Given the description of an element on the screen output the (x, y) to click on. 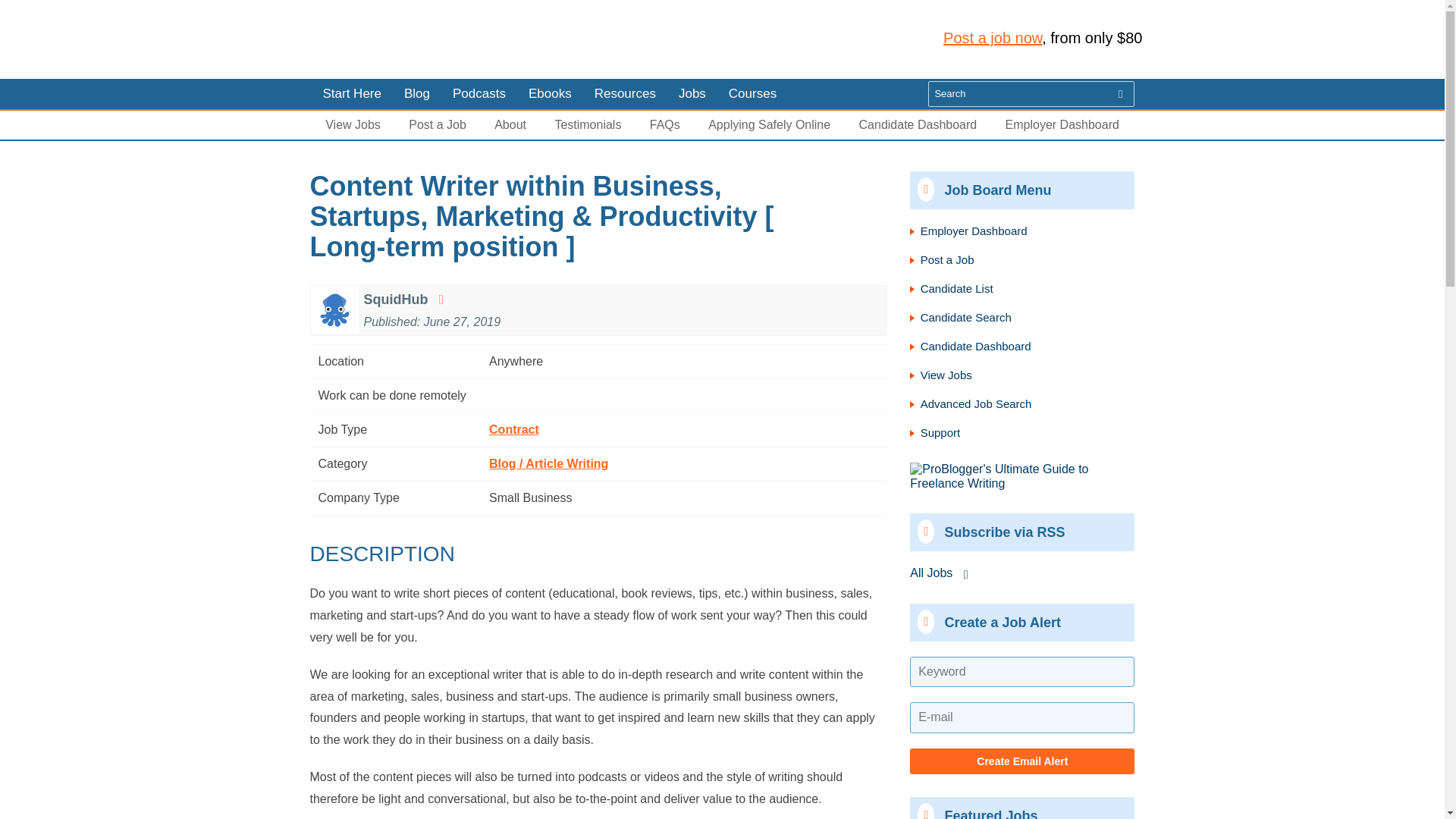
ProBlogger Jobs (409, 38)
Testimonials (587, 124)
View Jobs (352, 124)
Jobs (692, 93)
Employer Dashboard (1062, 124)
Applying Safely Online (769, 124)
Resources (624, 93)
Podcasts (478, 93)
Post a Job (437, 124)
Ebooks (550, 93)
Contract (513, 429)
Post a job now (992, 37)
Start Here (350, 93)
About (510, 124)
Candidate Dashboard (917, 124)
